Given the description of an element on the screen output the (x, y) to click on. 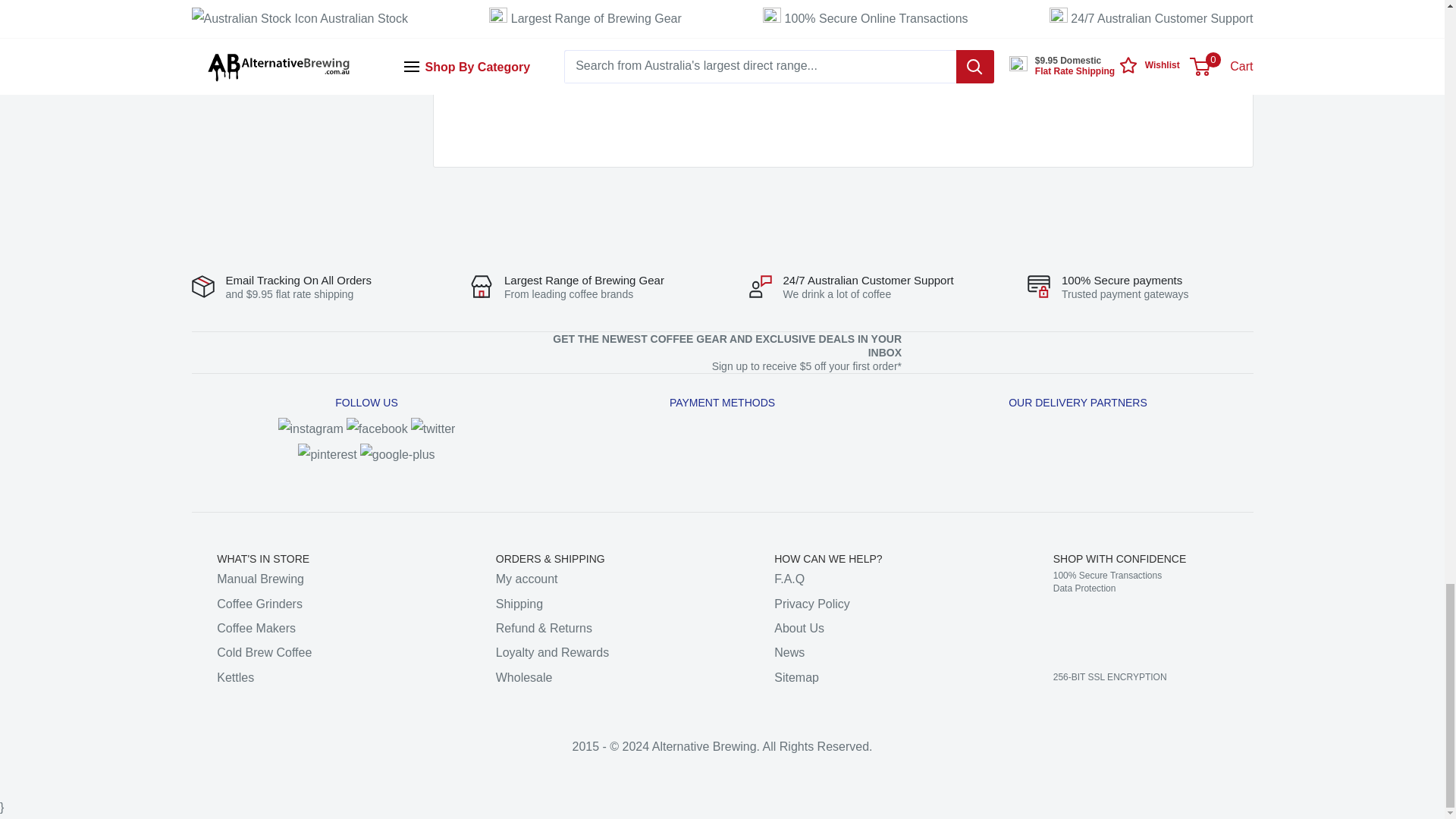
Pinterest (327, 454)
Facebook (376, 428)
YouTube (397, 454)
Instagram (310, 428)
Twitter (432, 428)
